Given the description of an element on the screen output the (x, y) to click on. 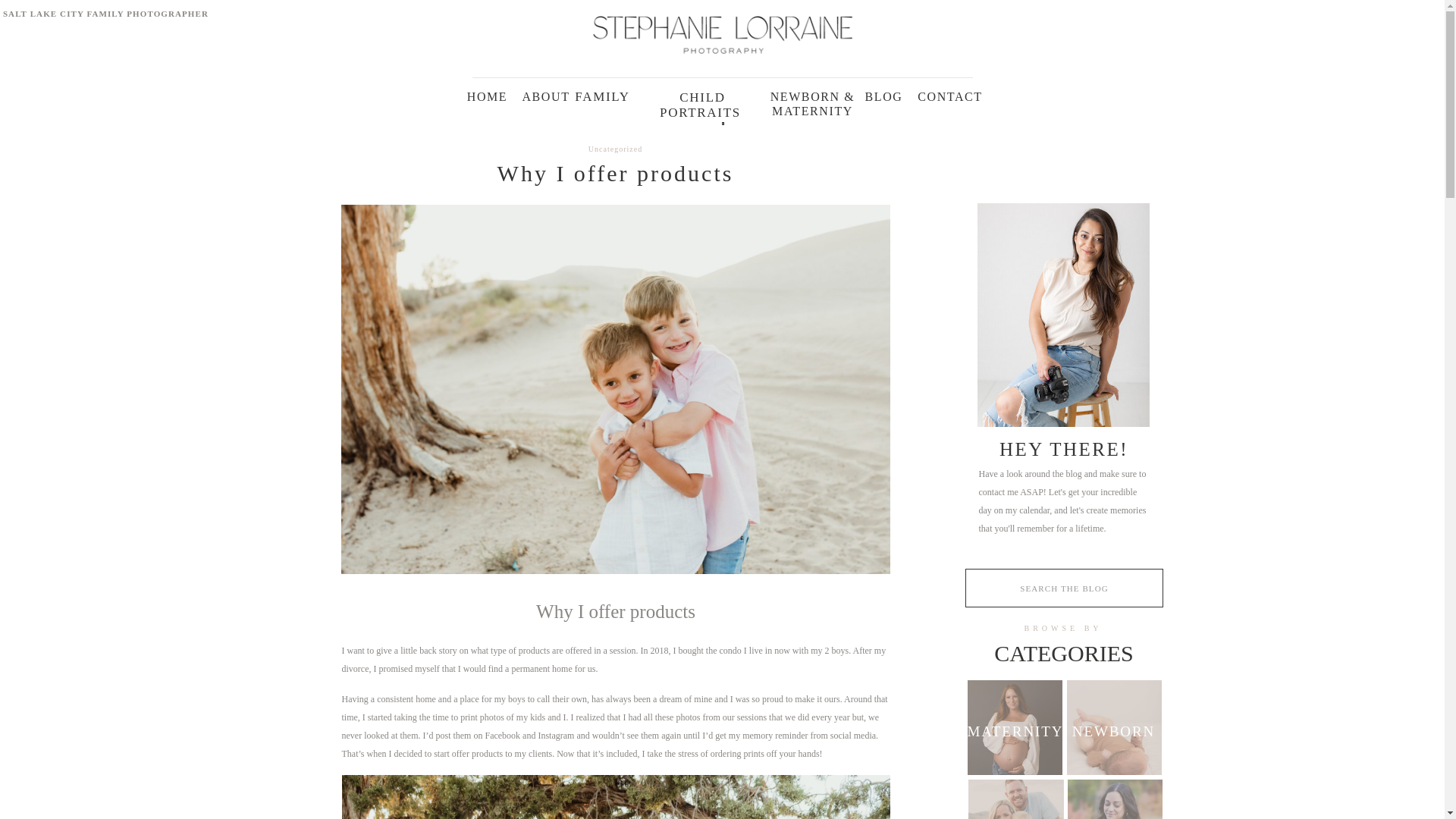
ADVICE (1114, 817)
ABOUT (545, 94)
Uncategorized (615, 148)
FAMILY (1016, 817)
NEWBORN (1112, 729)
CHILD PORTRAITS  (703, 96)
FAMILY (602, 96)
CONTACT (950, 94)
HOME (486, 94)
MATERNITY (1014, 727)
